Given the description of an element on the screen output the (x, y) to click on. 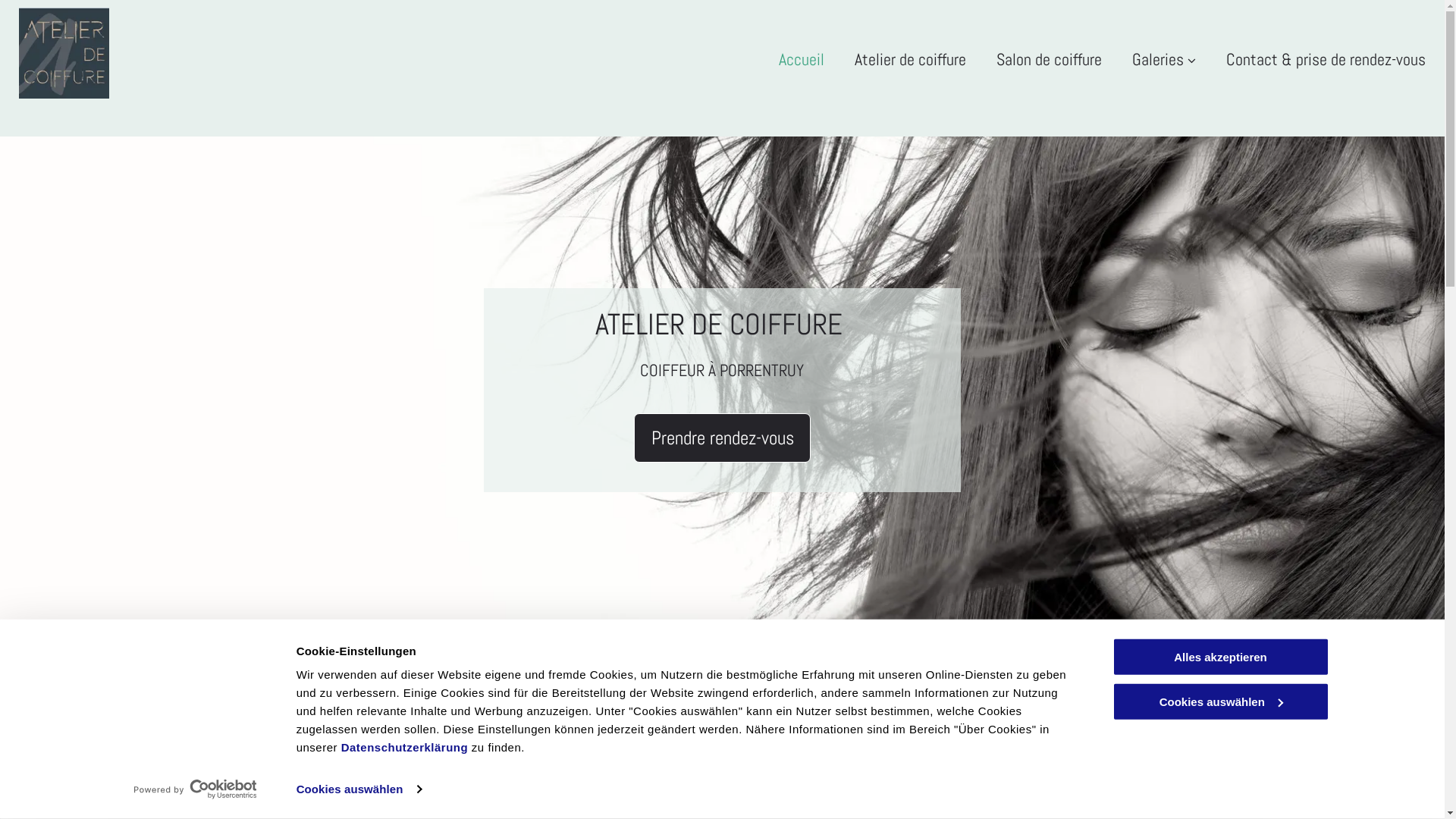
Alles akzeptieren Element type: text (1219, 656)
Contact & prise de rendez-vous Element type: text (1325, 57)
Accueil Element type: text (801, 57)
Prendre rendez-vous Element type: text (722, 437)
Atelier de coiffure Element type: text (910, 57)
Galeries Element type: text (1163, 57)
Salon de coiffure Element type: text (1048, 57)
